Given the description of an element on the screen output the (x, y) to click on. 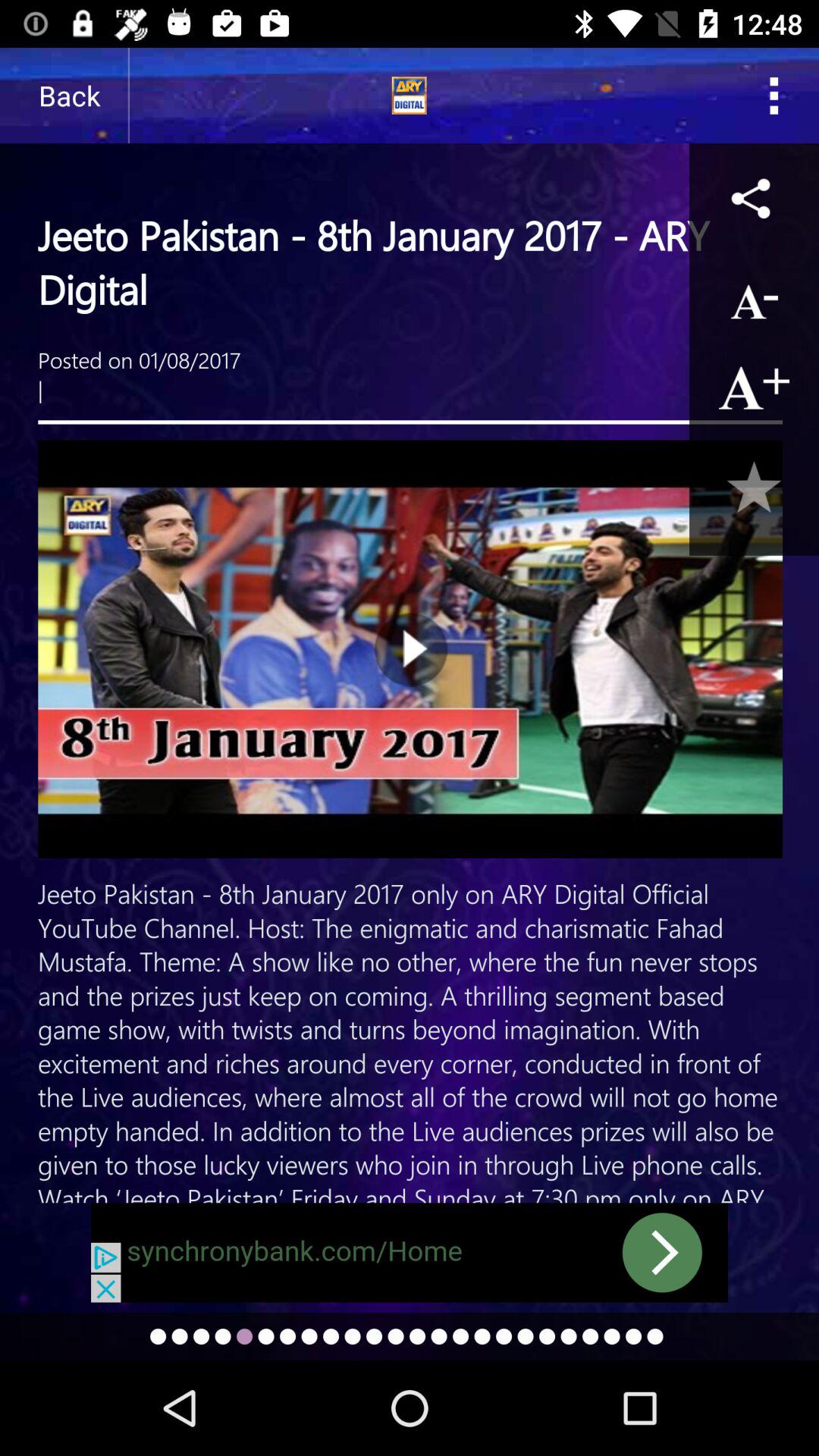
move (409, 1252)
